Given the description of an element on the screen output the (x, y) to click on. 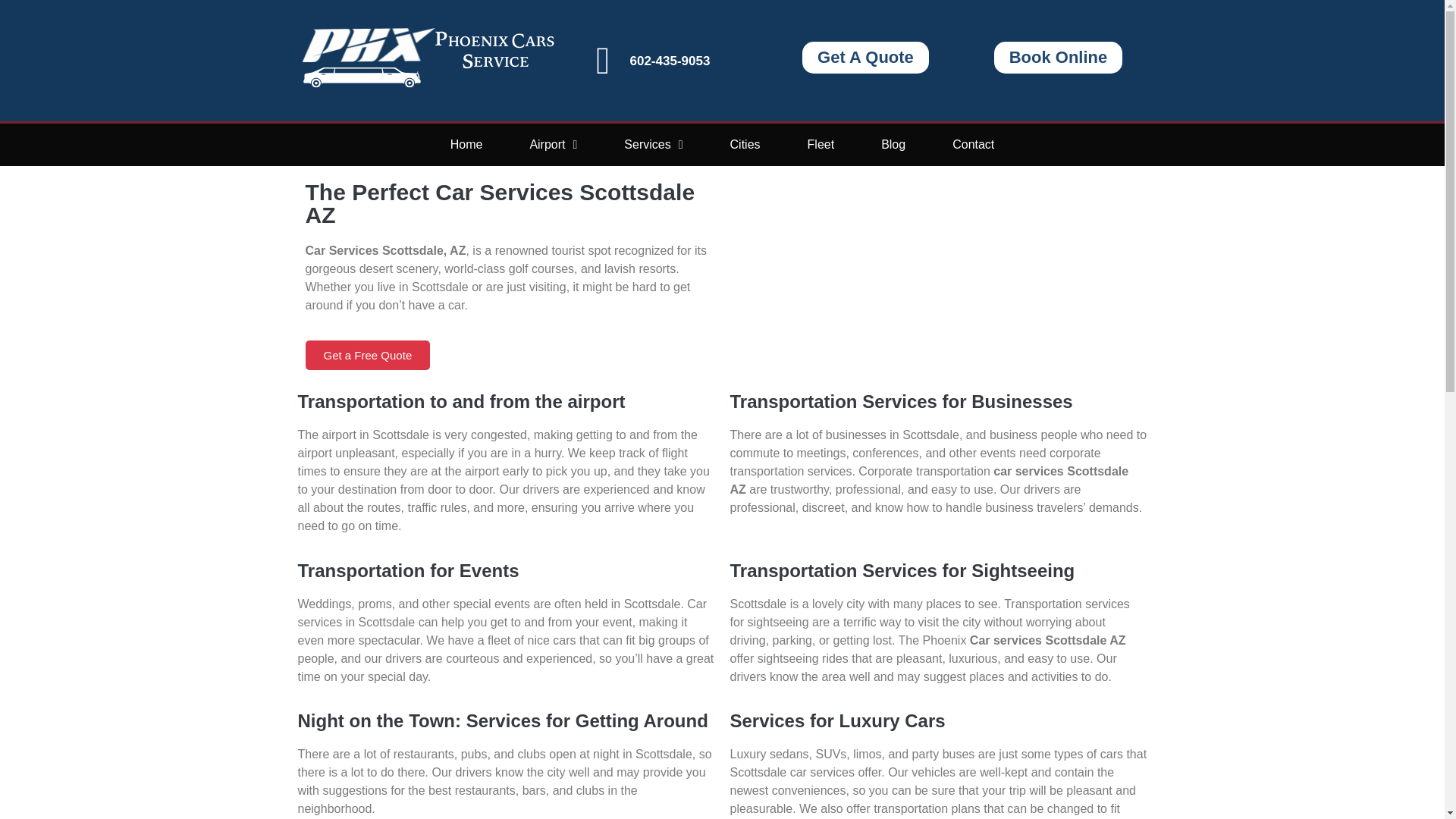
Contact (972, 144)
Get A Quote (865, 57)
Services (652, 144)
Cities (745, 144)
Fleet (821, 144)
Blog (892, 144)
Airport (552, 144)
Get a Free Quote (366, 355)
Book Online (1058, 57)
602-435-9053 (669, 60)
Home (466, 144)
